Given the description of an element on the screen output the (x, y) to click on. 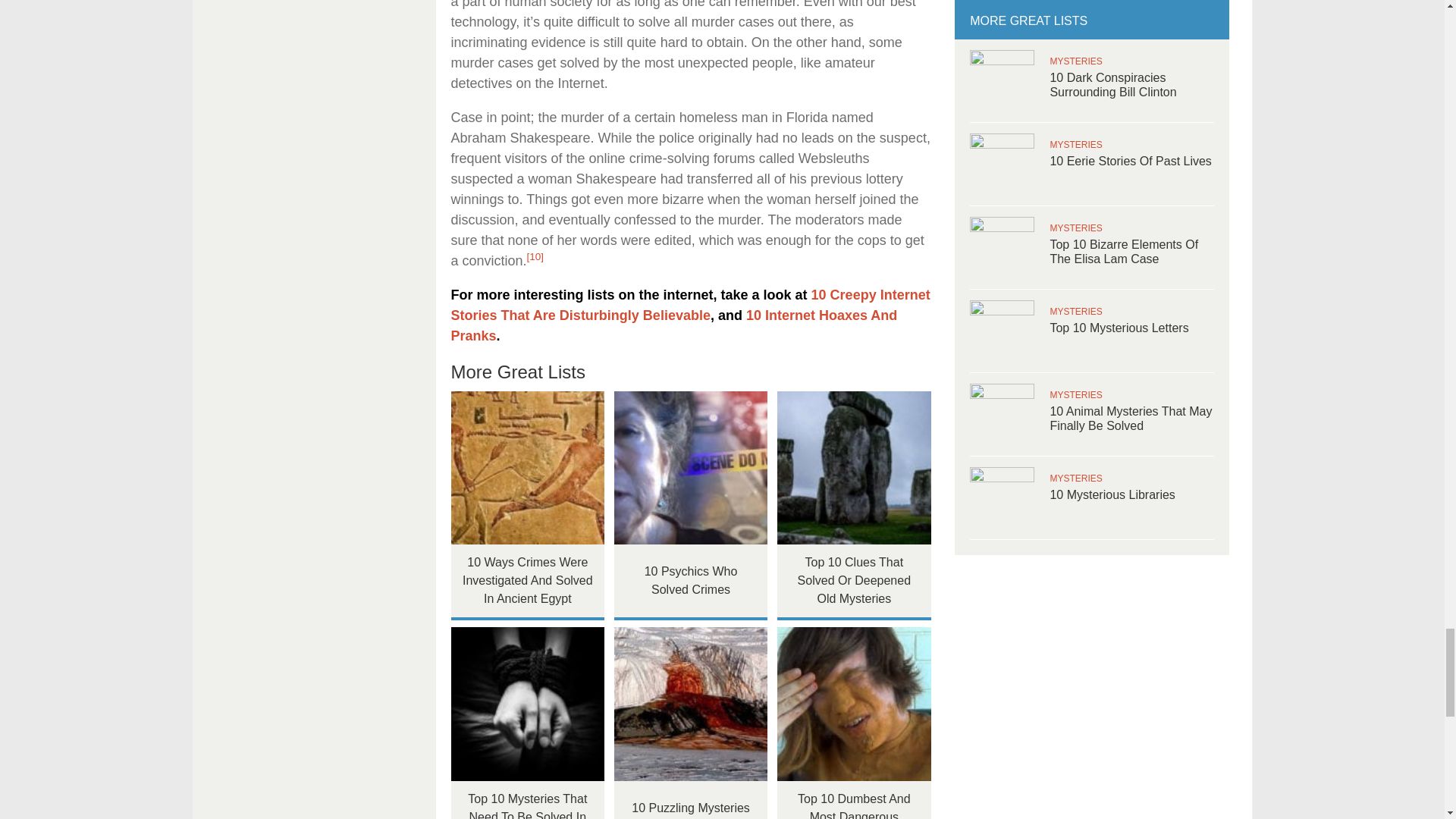
10 Ways Crimes Were Investigated And Solved In Ancient Egypt (526, 468)
10 Psychics Who Solved Crimes (691, 468)
